Given the description of an element on the screen output the (x, y) to click on. 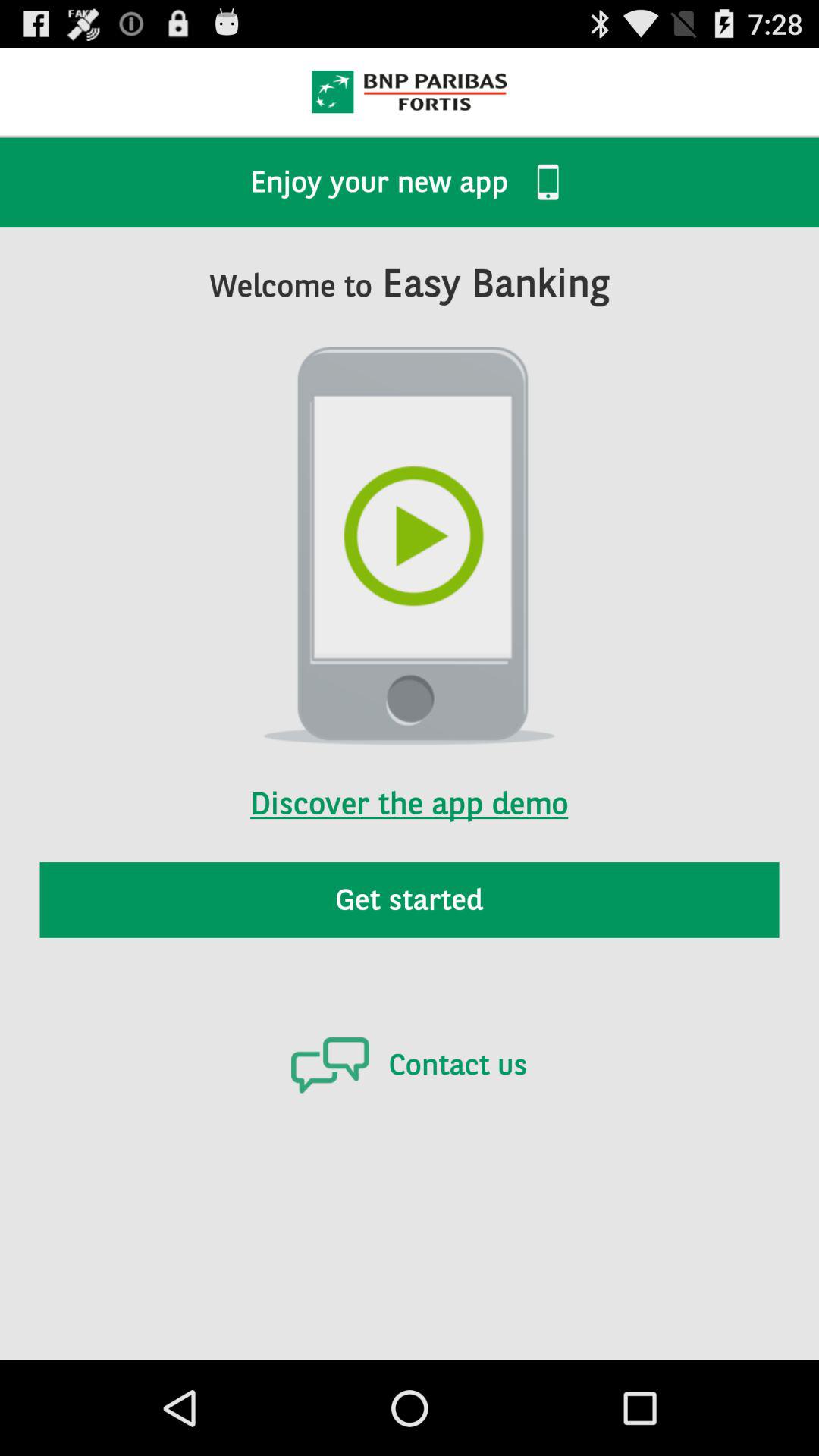
select icon above contact us (409, 899)
